Given the description of an element on the screen output the (x, y) to click on. 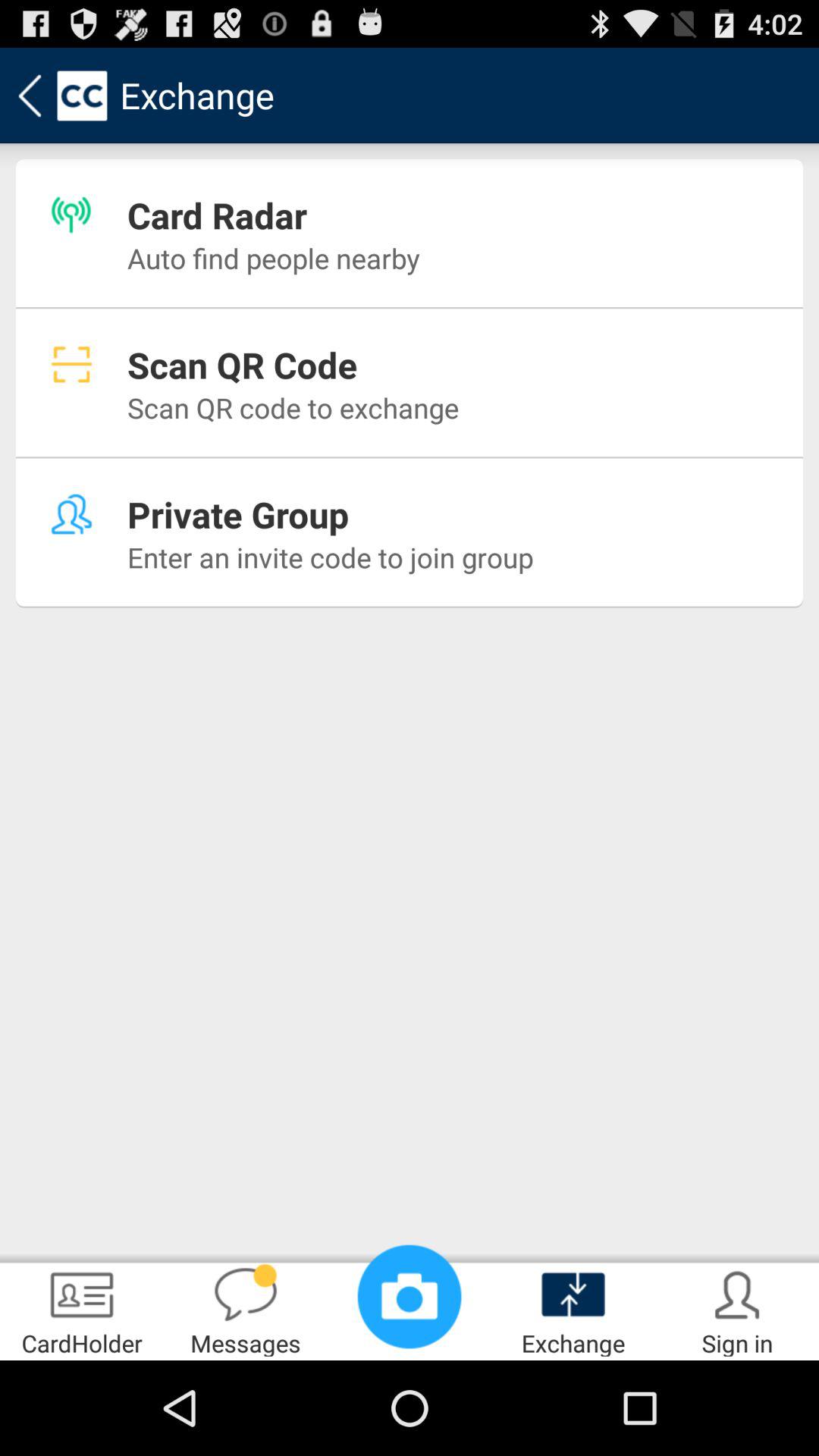
click item to the right of the messages item (409, 1296)
